Given the description of an element on the screen output the (x, y) to click on. 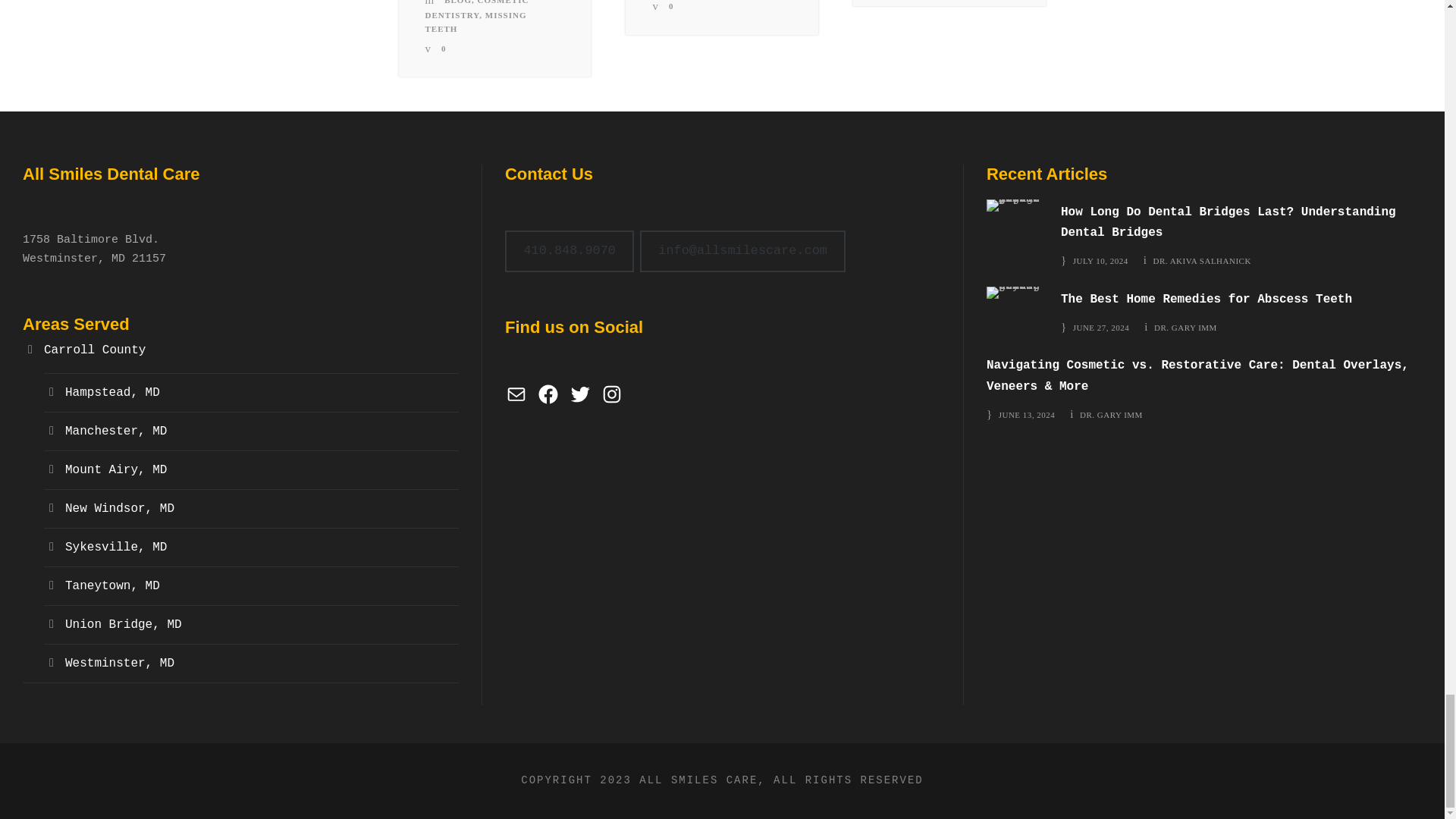
Posts by Dr. Gary Imm (1111, 414)
Posts by Dr. Akiva Salhanick (1201, 260)
Posts by Dr. Gary Imm (1185, 327)
